Given the description of an element on the screen output the (x, y) to click on. 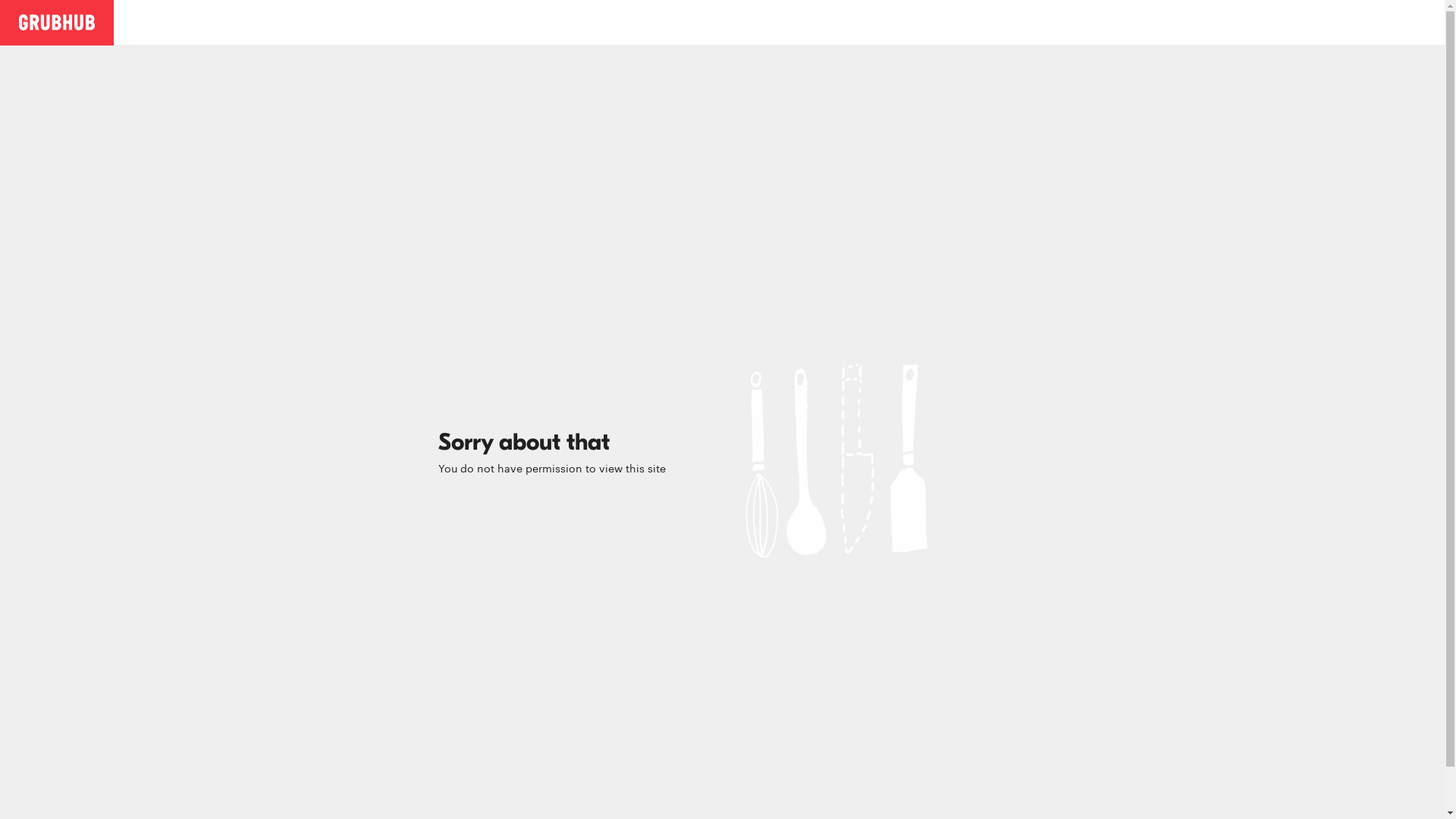
grubhub Element type: hover (56, 21)
